Given the description of an element on the screen output the (x, y) to click on. 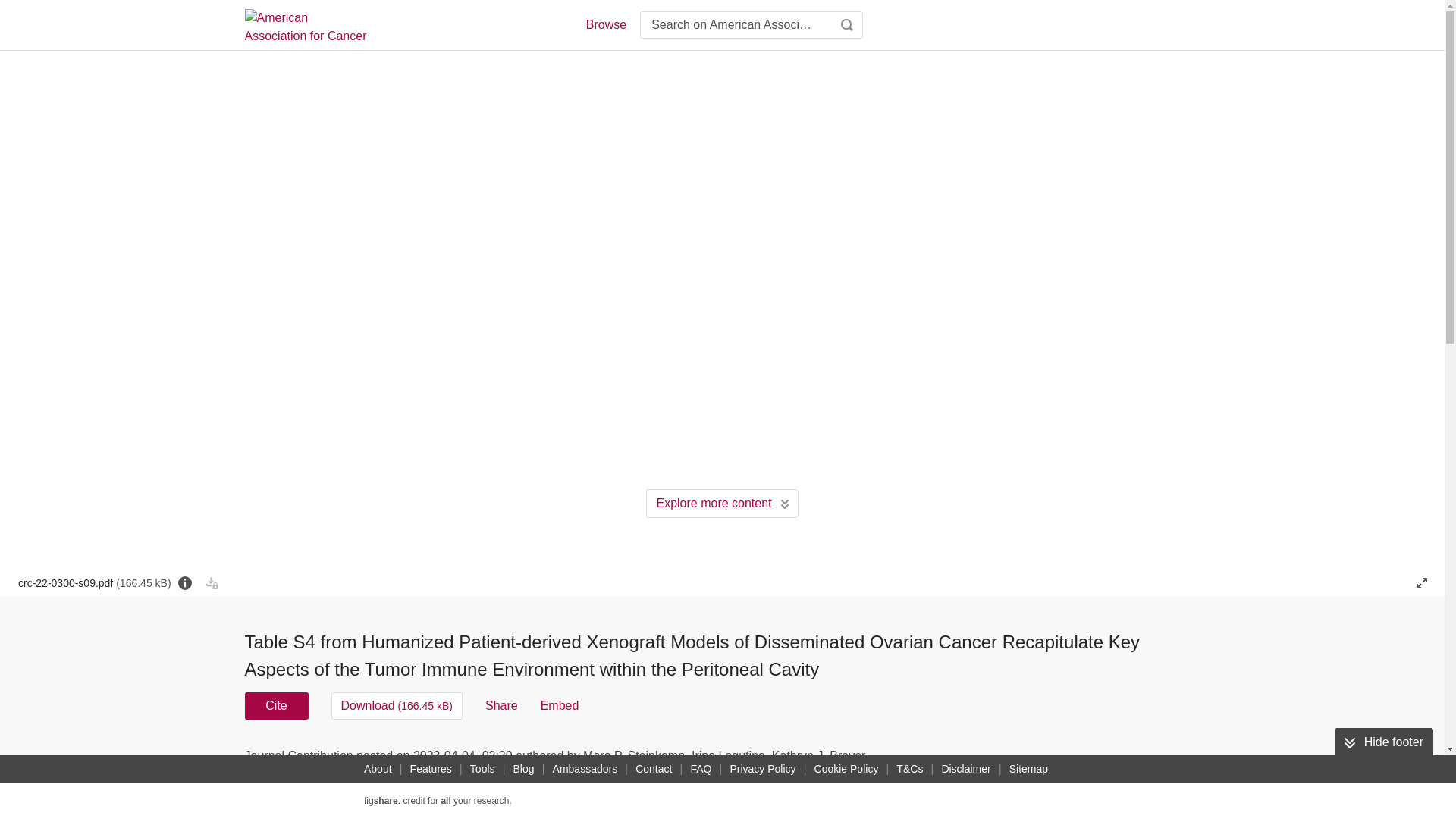
Explore more content (721, 502)
USAGE METRICS (976, 759)
crc-22-0300-s09.pdf (94, 583)
Browse (605, 24)
Hide footer (1383, 742)
Share (501, 705)
Cite (275, 705)
Embed (559, 705)
